Given the description of an element on the screen output the (x, y) to click on. 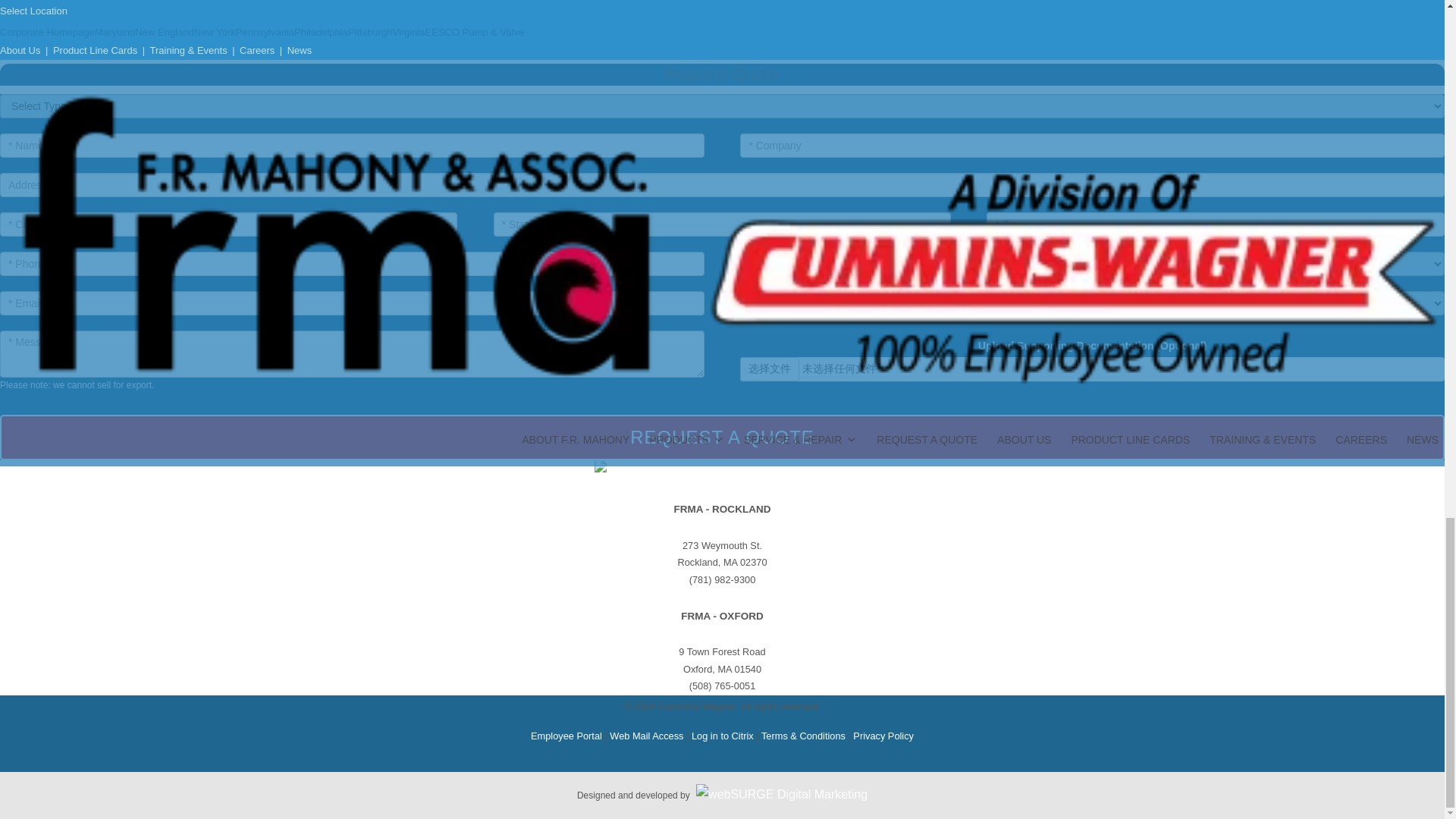
Web Mail Access (646, 736)
Employee Portal (566, 736)
Log in to Citrix (722, 736)
